Given the description of an element on the screen output the (x, y) to click on. 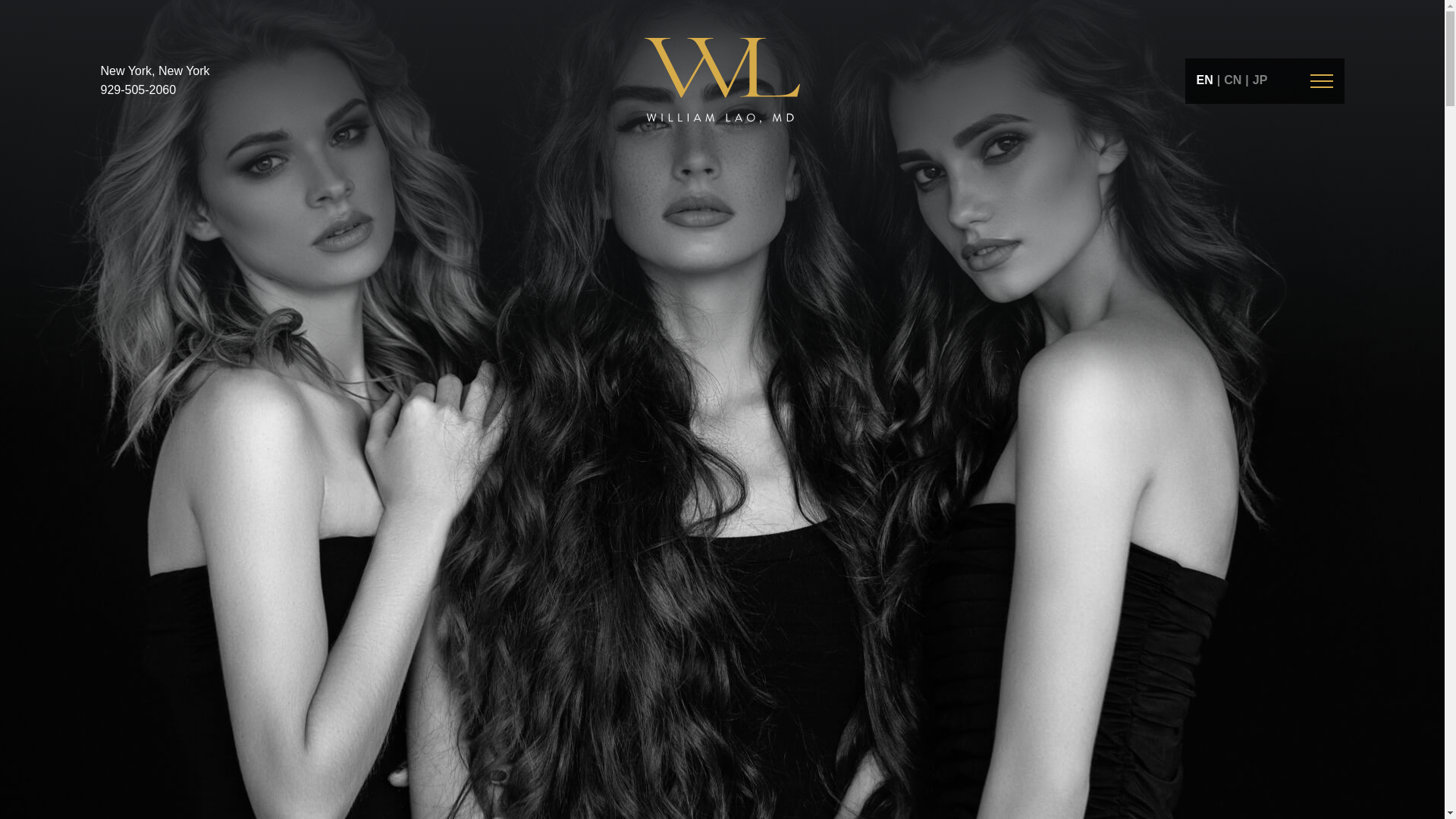
Call us at 929-505-2060 (138, 90)
Find us on Google maps - opens in a new window. (154, 70)
Click to go to our front page (722, 80)
